Given the description of an element on the screen output the (x, y) to click on. 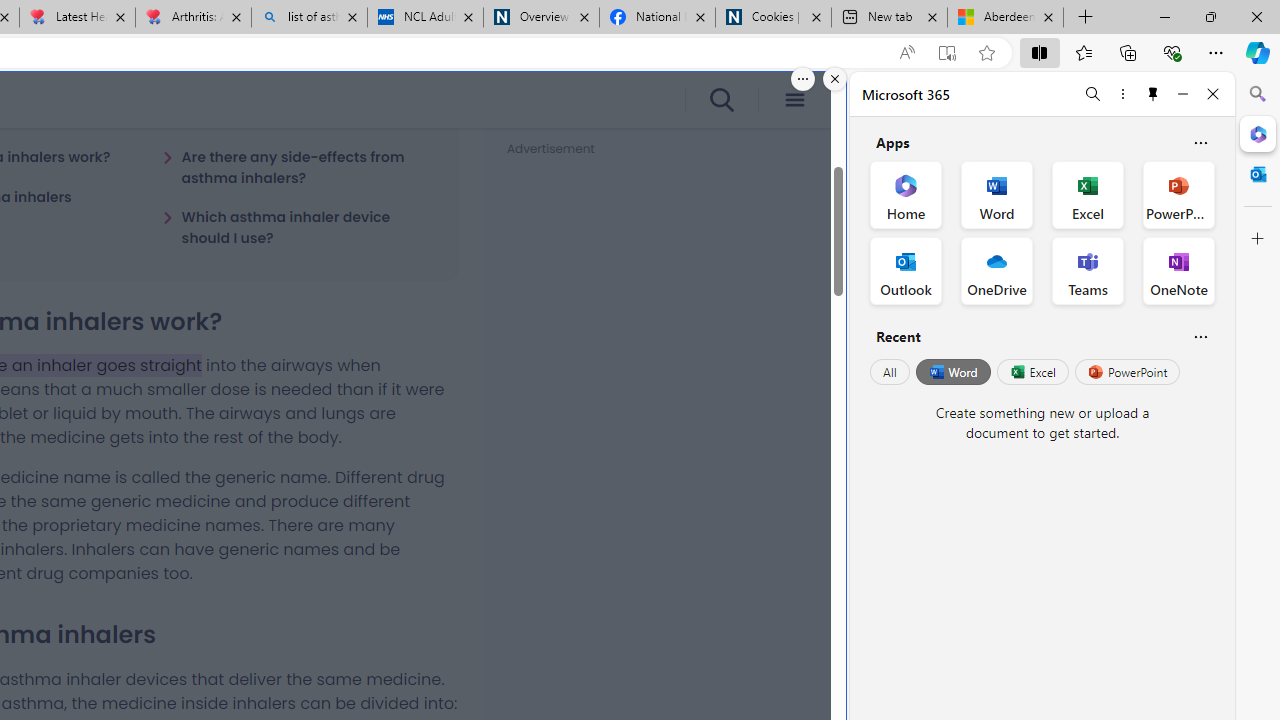
Teams Office App (1087, 270)
Are there any side-effects from asthma inhalers? (298, 167)
Outlook Office App (906, 270)
Excel Office App (1087, 194)
Which asthma inhaler device should I use? (298, 227)
